Given the description of an element on the screen output the (x, y) to click on. 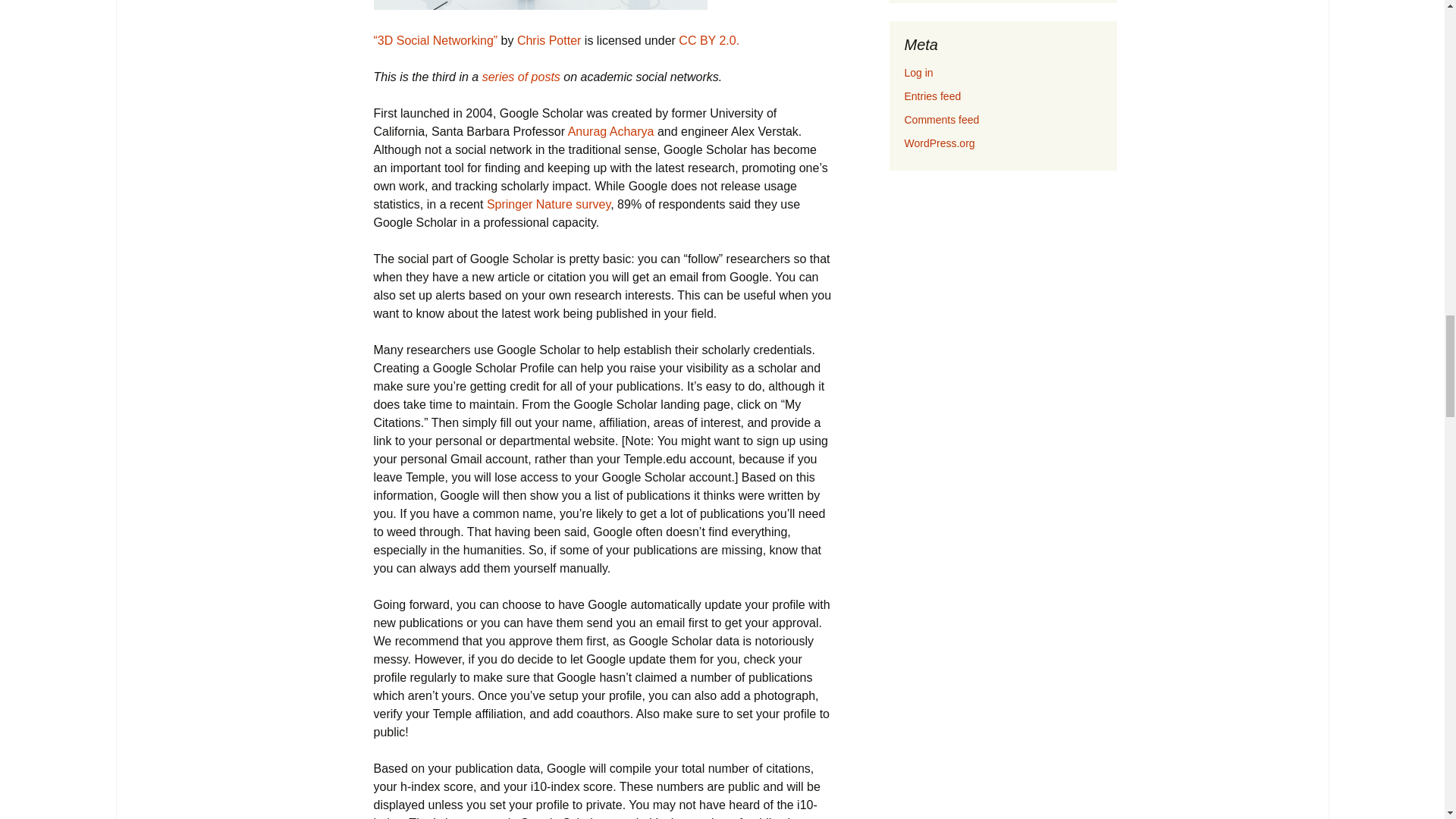
Anurag Acharya (610, 131)
CC BY 2.0. (708, 40)
Chris Potter (548, 40)
Springer Nature survey (548, 204)
series of posts (520, 76)
